Given the description of an element on the screen output the (x, y) to click on. 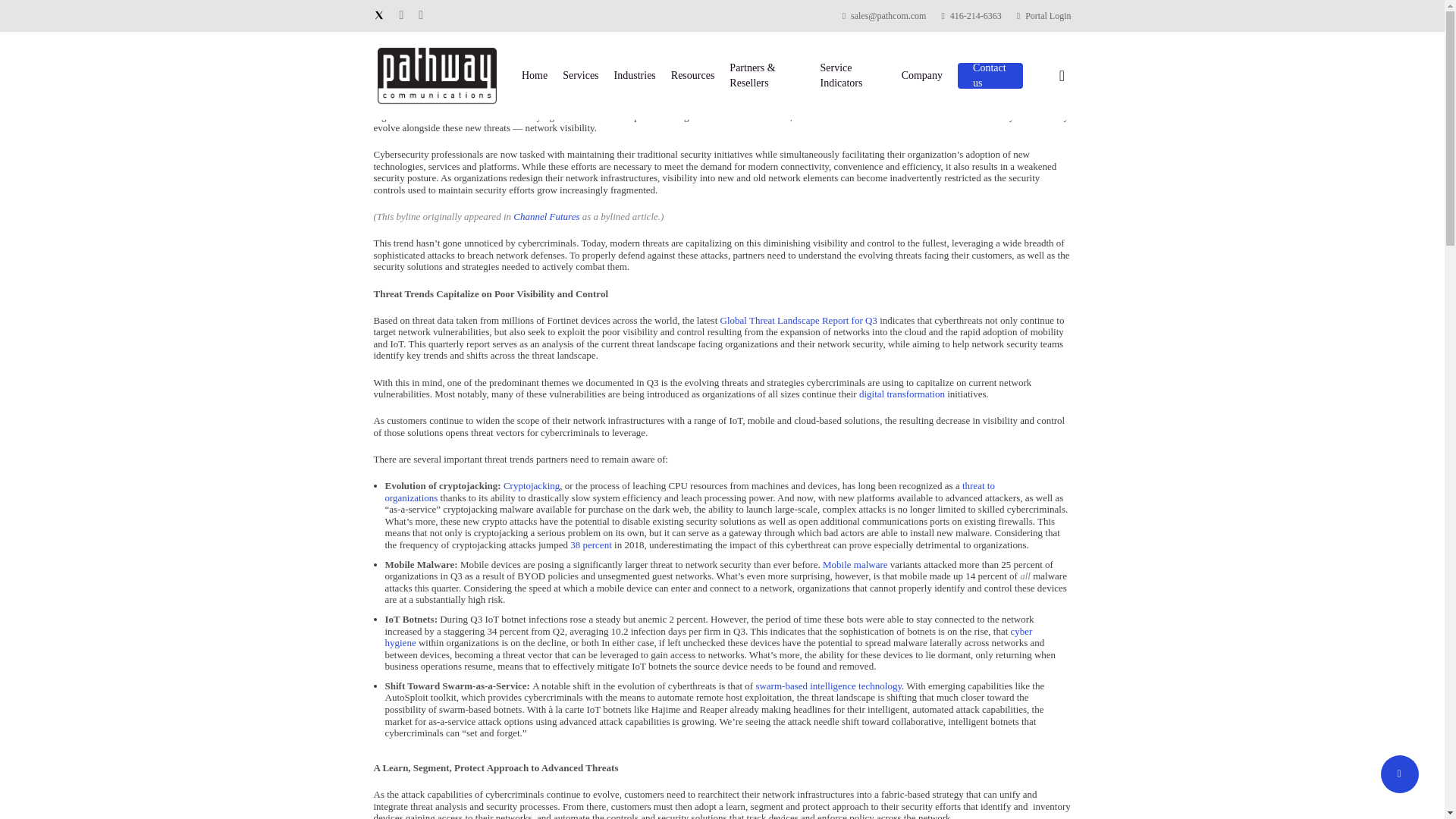
Services (579, 75)
416-214-6363 (970, 15)
Home (533, 75)
Portal Login (1043, 15)
